Given the description of an element on the screen output the (x, y) to click on. 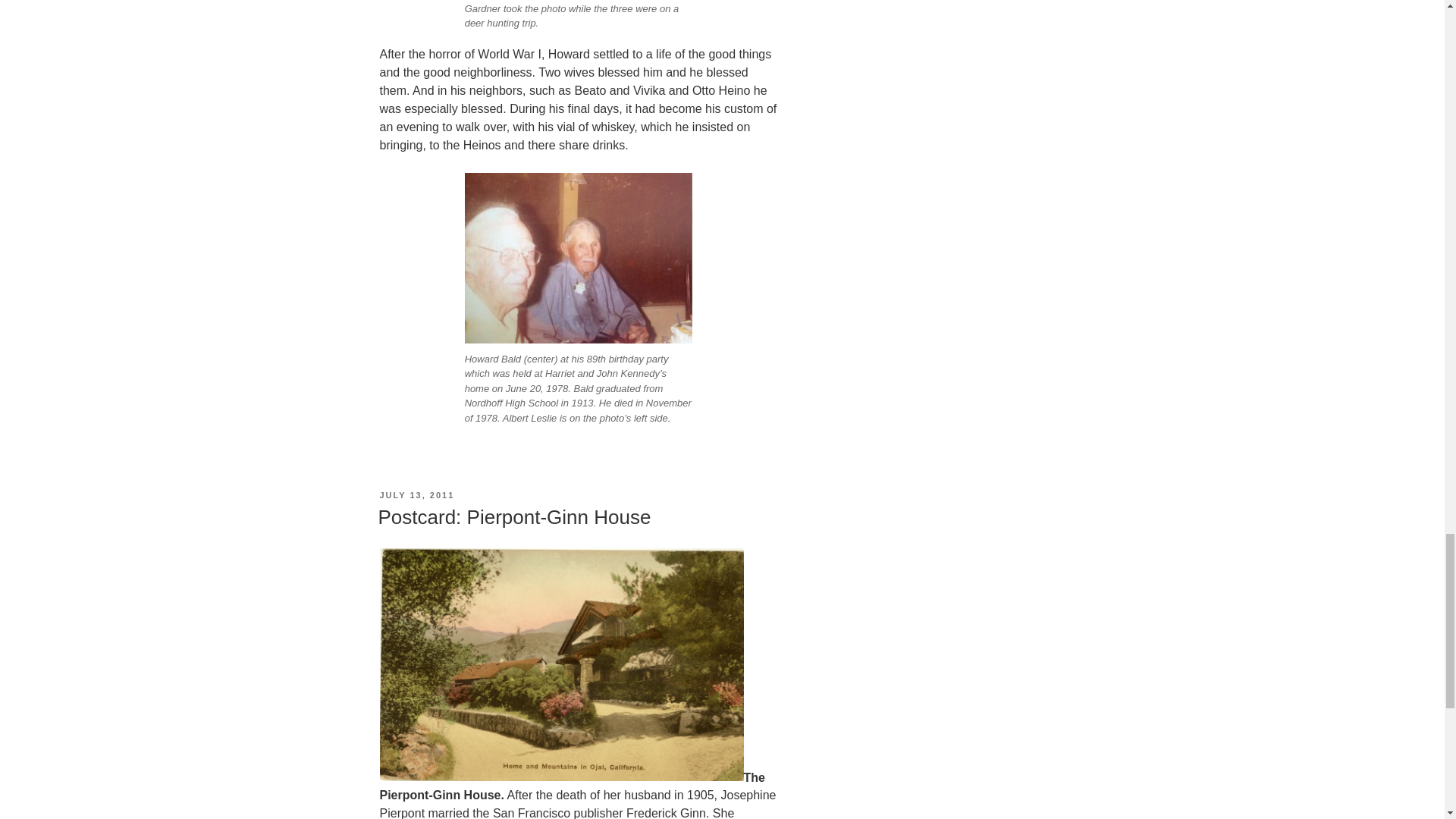
JULY 13, 2011 (416, 494)
Pierpont-Ginn House (560, 664)
Postcard: Pierpont-Ginn House (513, 517)
